Given the description of an element on the screen output the (x, y) to click on. 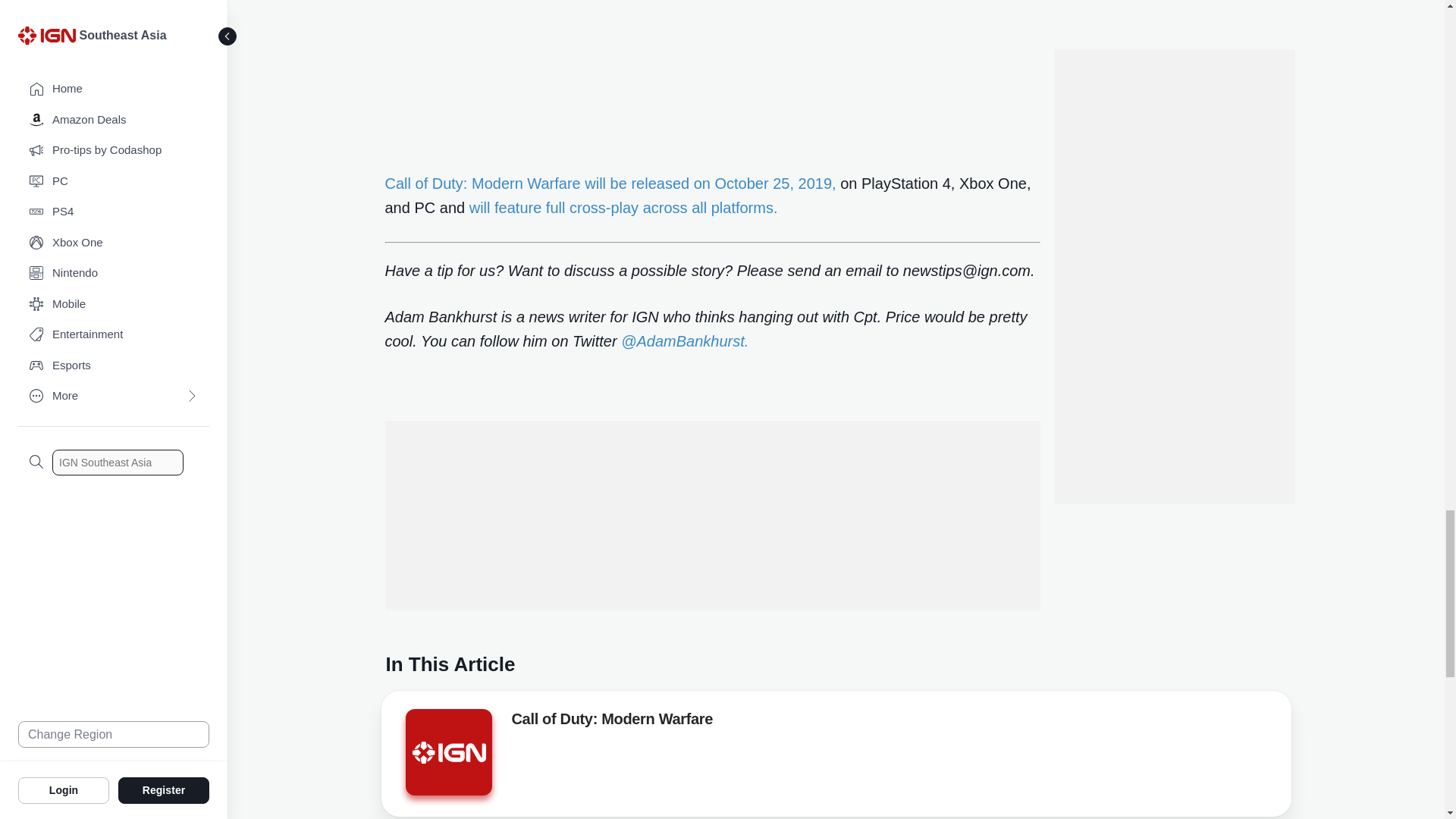
Call of Duty: Modern Warfare (612, 721)
Call of Duty: Modern Warfare (448, 752)
Call of Duty: Modern Warfare (448, 756)
